Given the description of an element on the screen output the (x, y) to click on. 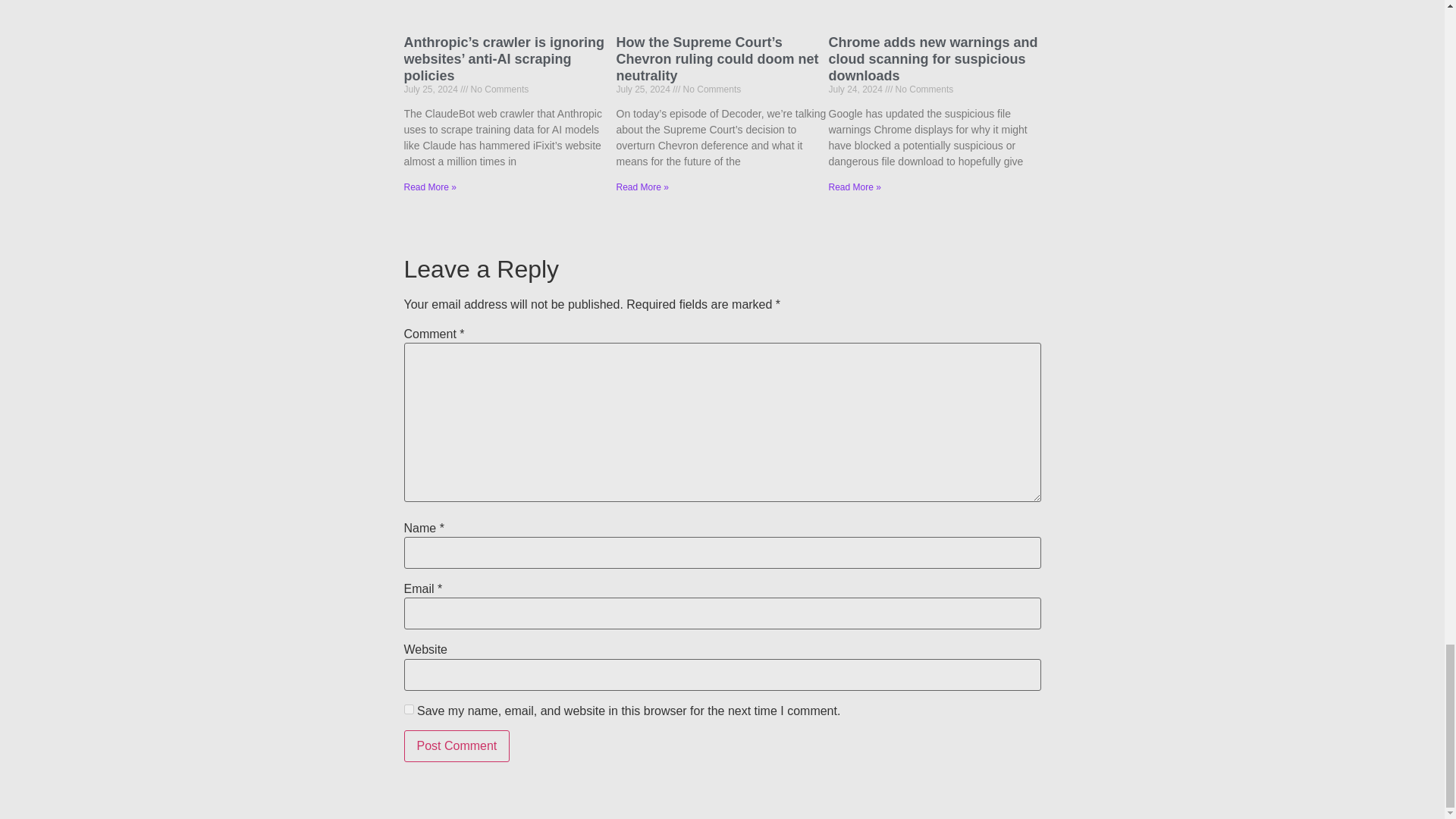
Post Comment (456, 746)
yes (408, 709)
Post Comment (456, 746)
